Given the description of an element on the screen output the (x, y) to click on. 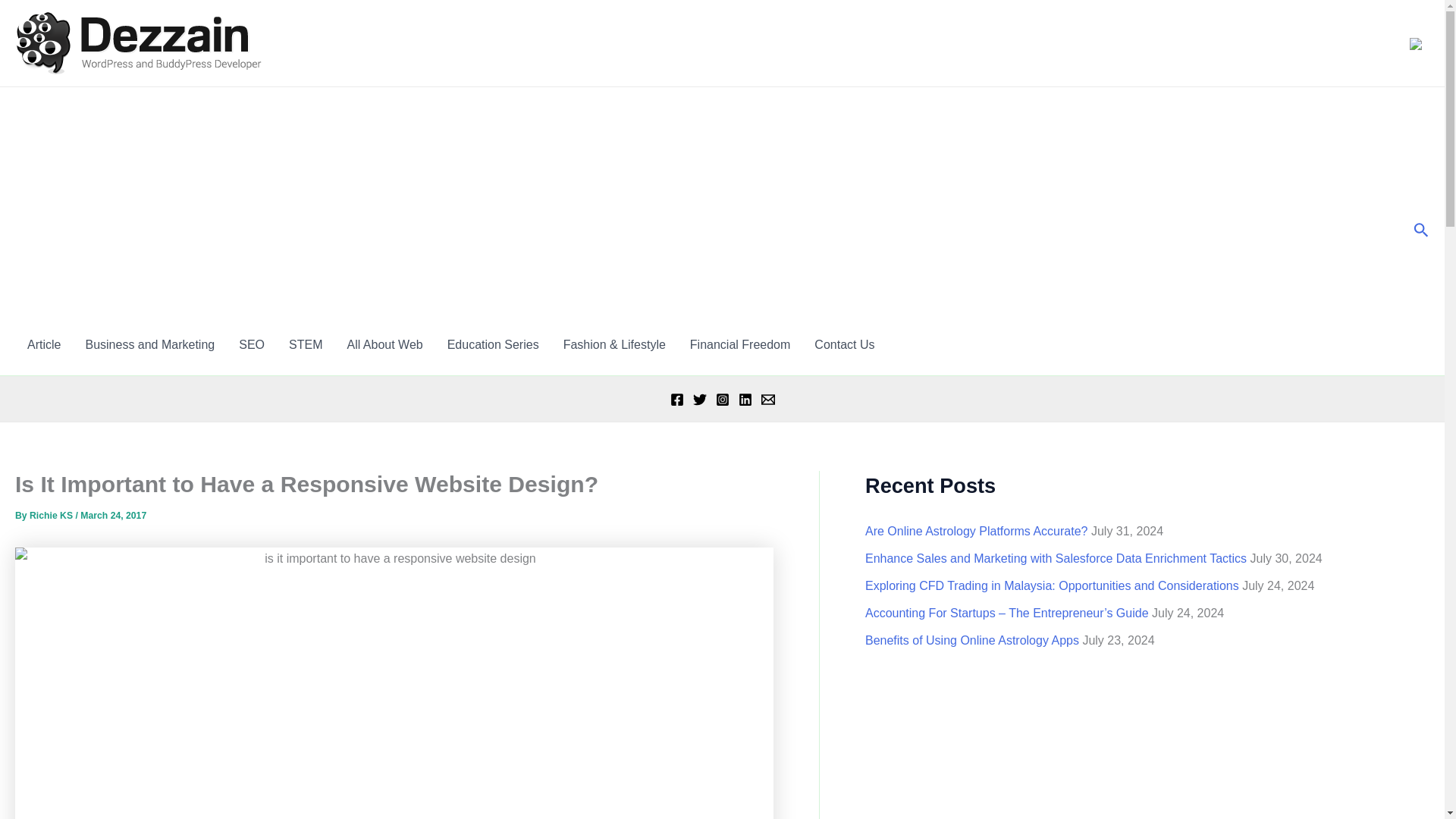
Richie KS (52, 515)
All About Web (383, 344)
Contact Us (844, 344)
any inquiries? (844, 344)
Education Series (493, 344)
Article (43, 344)
Financial Freedom (740, 344)
Business and Marketing (149, 344)
STEM (305, 344)
View all posts by Richie KS (52, 515)
